Given the description of an element on the screen output the (x, y) to click on. 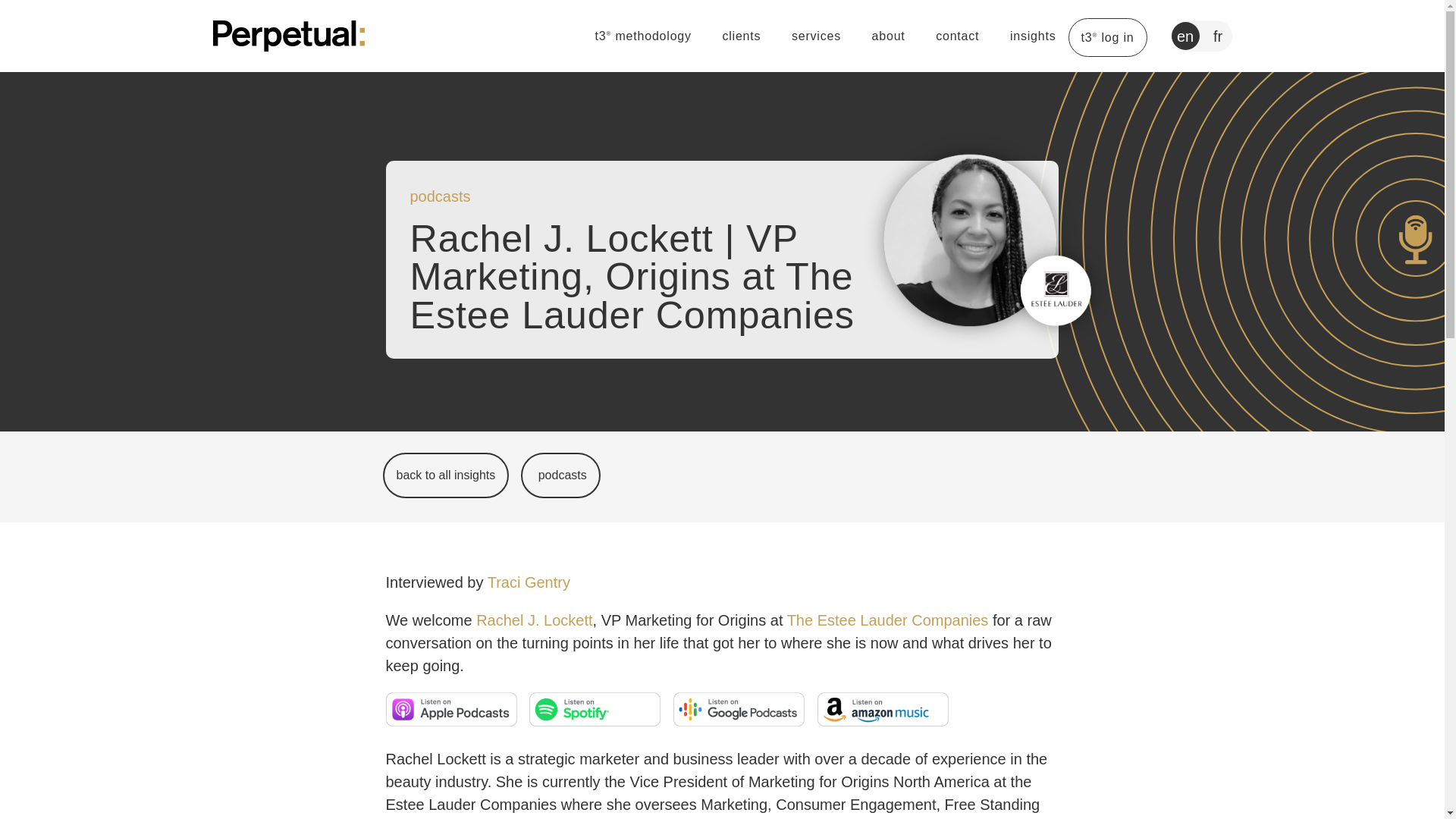
clients (741, 35)
contact (957, 35)
about (888, 35)
en (1184, 35)
services (816, 35)
insights (1033, 35)
fr (1217, 35)
